Given the description of an element on the screen output the (x, y) to click on. 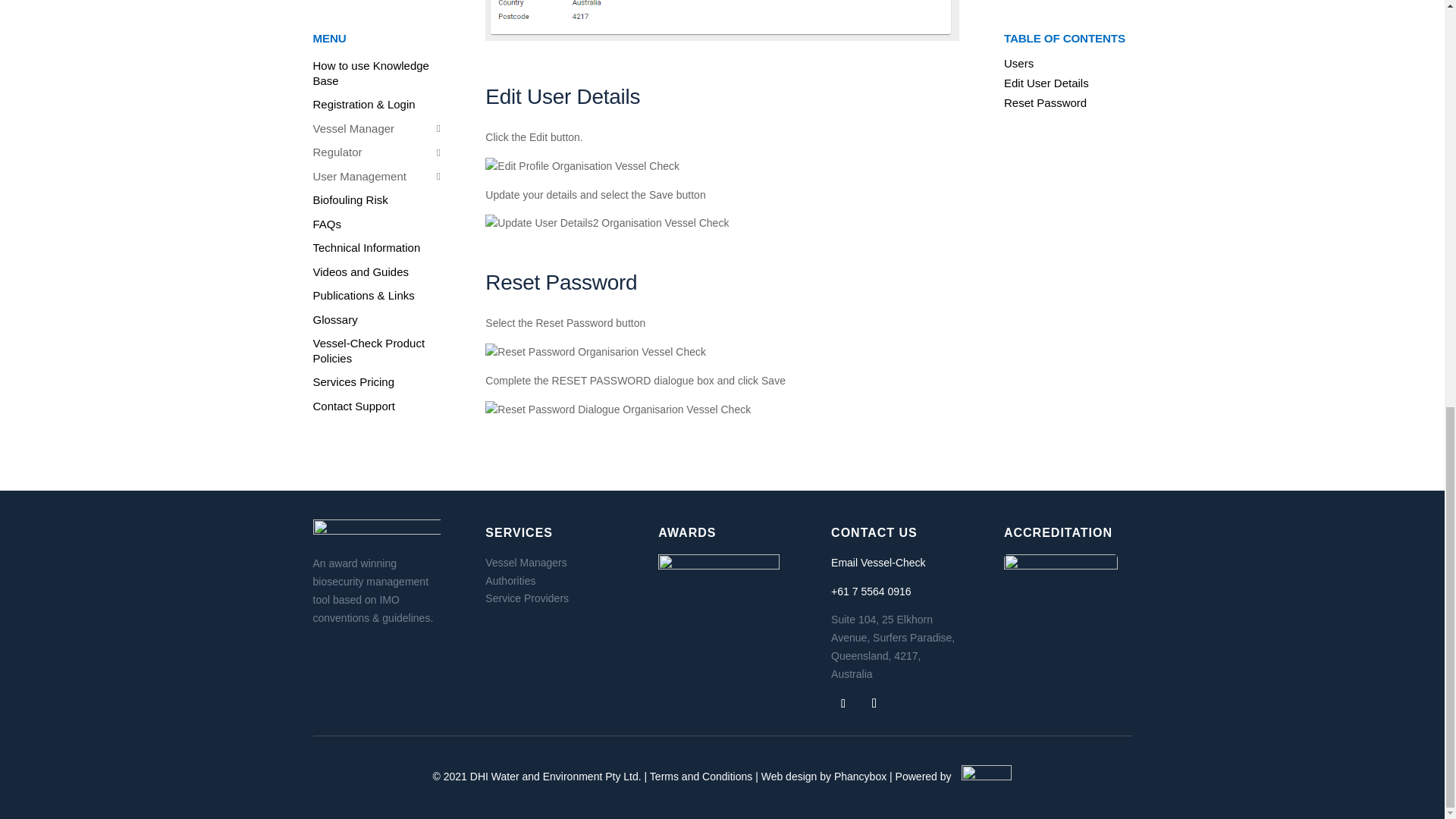
Follow on LinkedIn (873, 703)
Award (718, 583)
vessel-check-log-footer (376, 533)
Follow on Youtube (843, 703)
ISO 9001 2015 Logo Vessel-Check Biosecurity Software Tools (1061, 582)
